Given the description of an element on the screen output the (x, y) to click on. 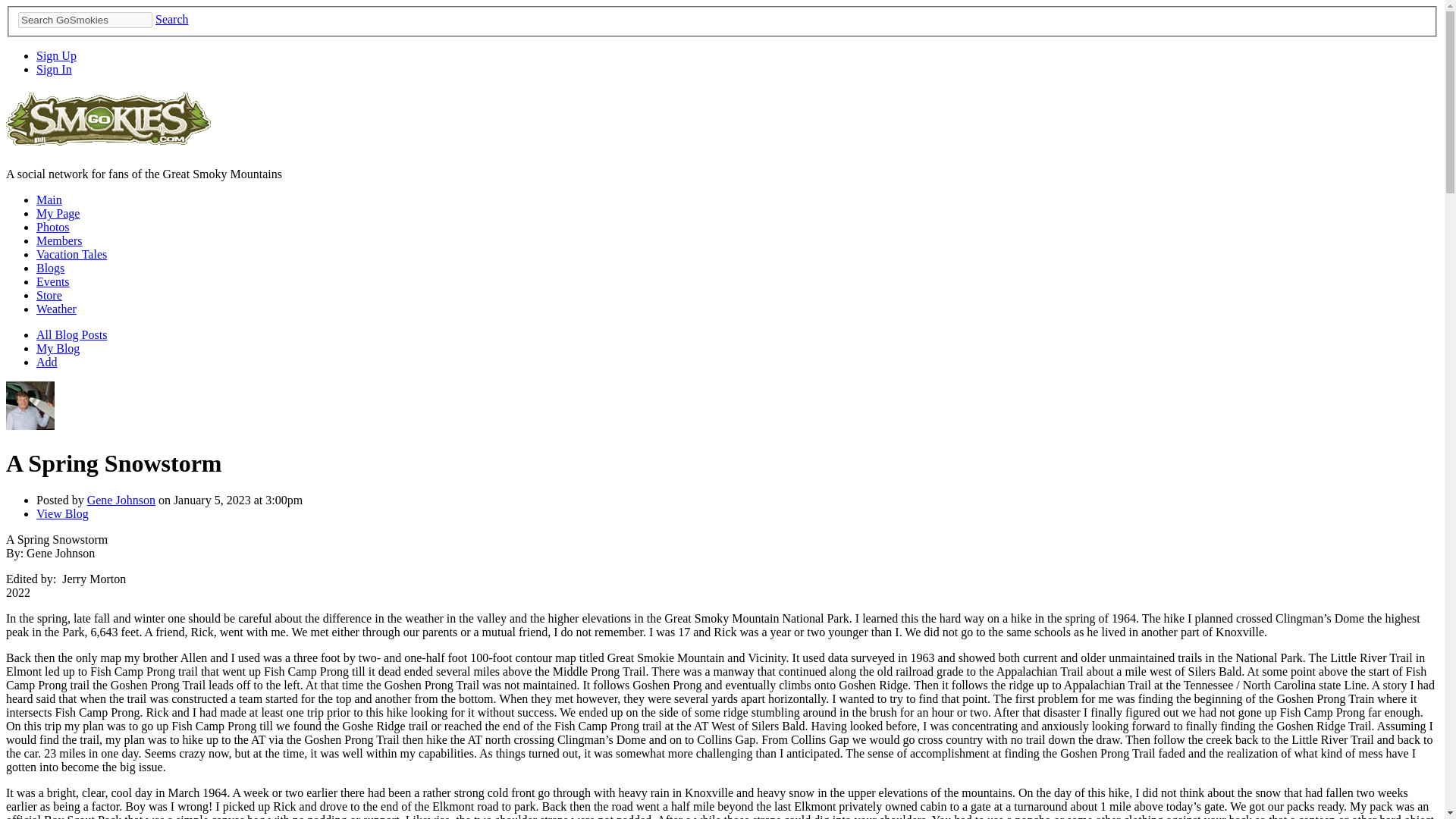
My Page (58, 213)
Vacation Tales (71, 254)
All Blog Posts (71, 334)
My Blog (58, 348)
Members (58, 240)
Posted by (61, 499)
Sign In (53, 69)
Weather (56, 308)
Sign Up (56, 55)
Blogs (50, 267)
Add (47, 361)
Search GoSmokies (84, 19)
View Blog (62, 513)
Search (172, 19)
on January 5, 2023 at 3:00pm (228, 499)
